Given the description of an element on the screen output the (x, y) to click on. 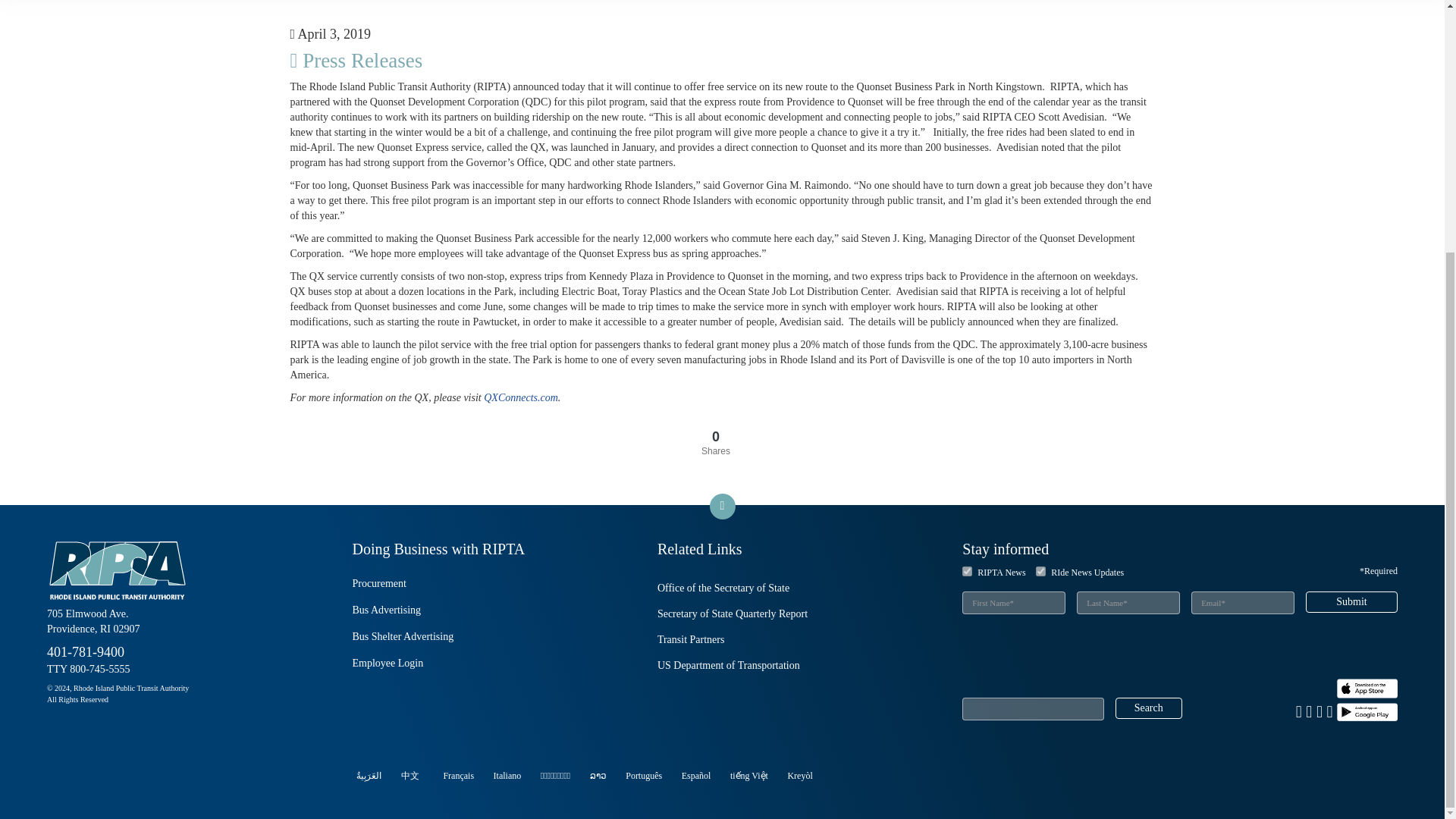
on (1040, 571)
on (967, 571)
